Given the description of an element on the screen output the (x, y) to click on. 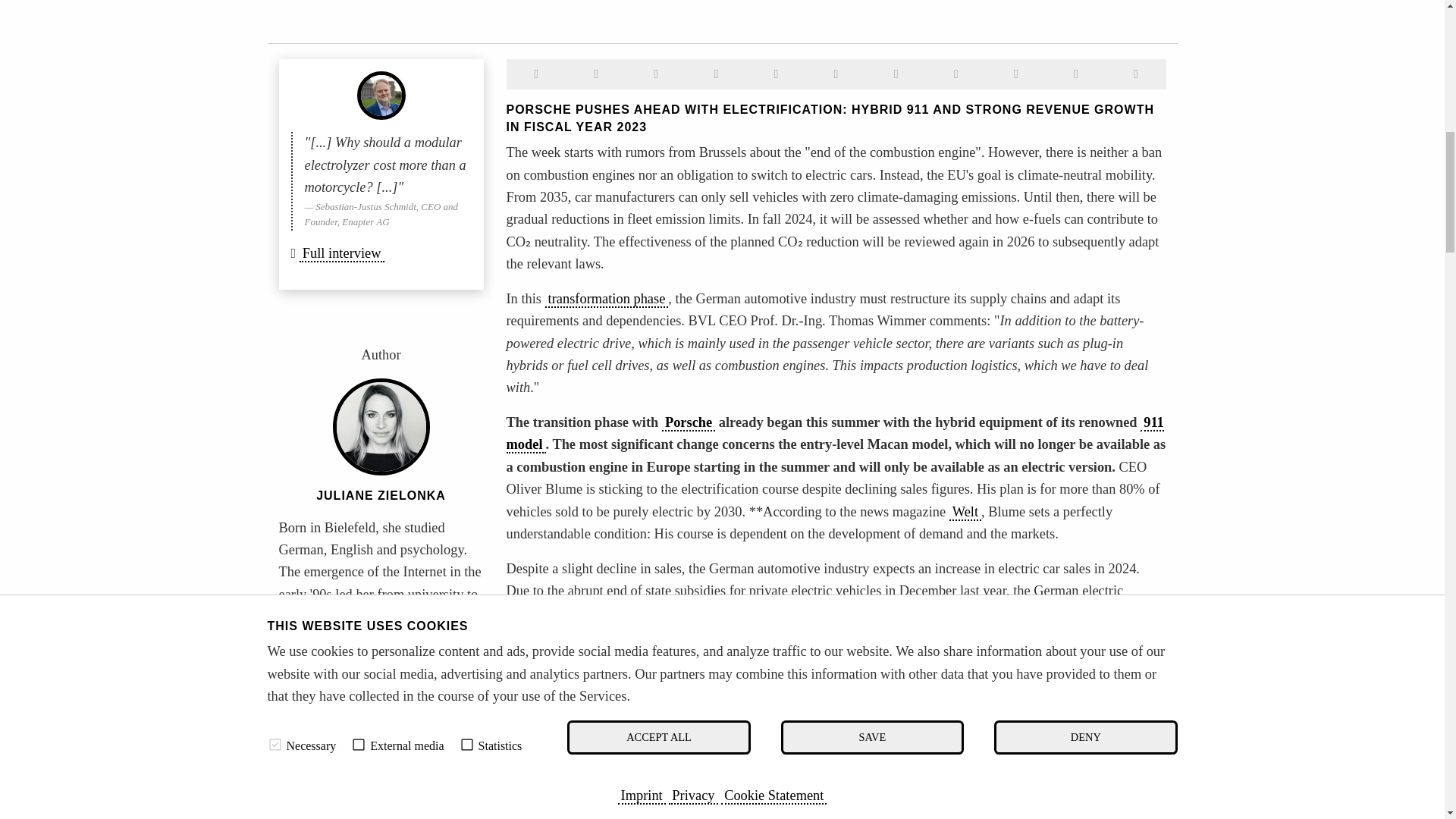
Full interview (341, 253)
About the author (329, 763)
JULIANE ZIELONKA (380, 495)
Juliane Zielonka (380, 495)
Juliane Zielonka (329, 763)
Sebastian-Justus Schmidt, CEO and Founder, Enapter AG (380, 95)
Juliane Zielonka (380, 426)
